Given the description of an element on the screen output the (x, y) to click on. 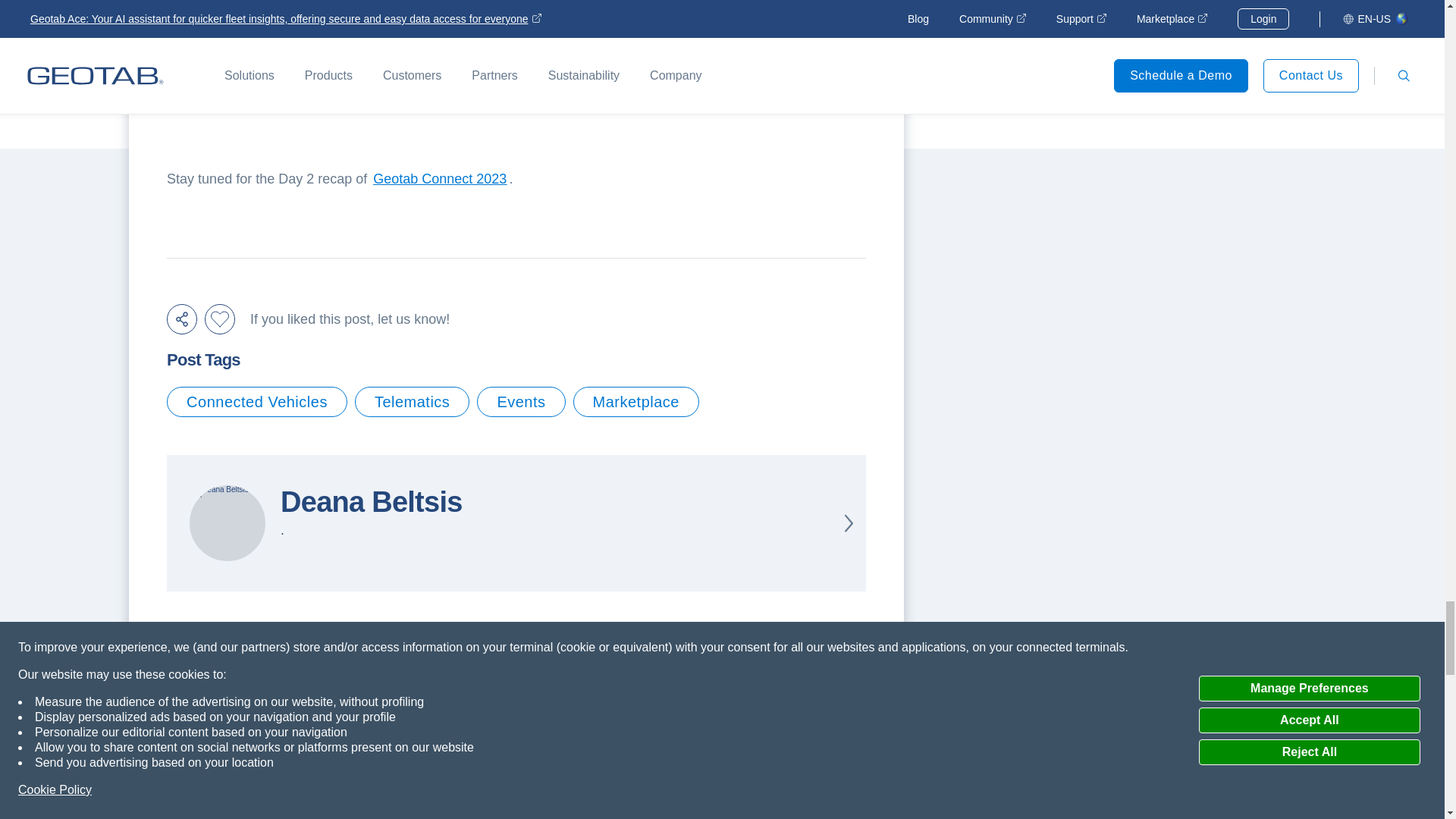
Deana Beltsis (226, 523)
